Given the description of an element on the screen output the (x, y) to click on. 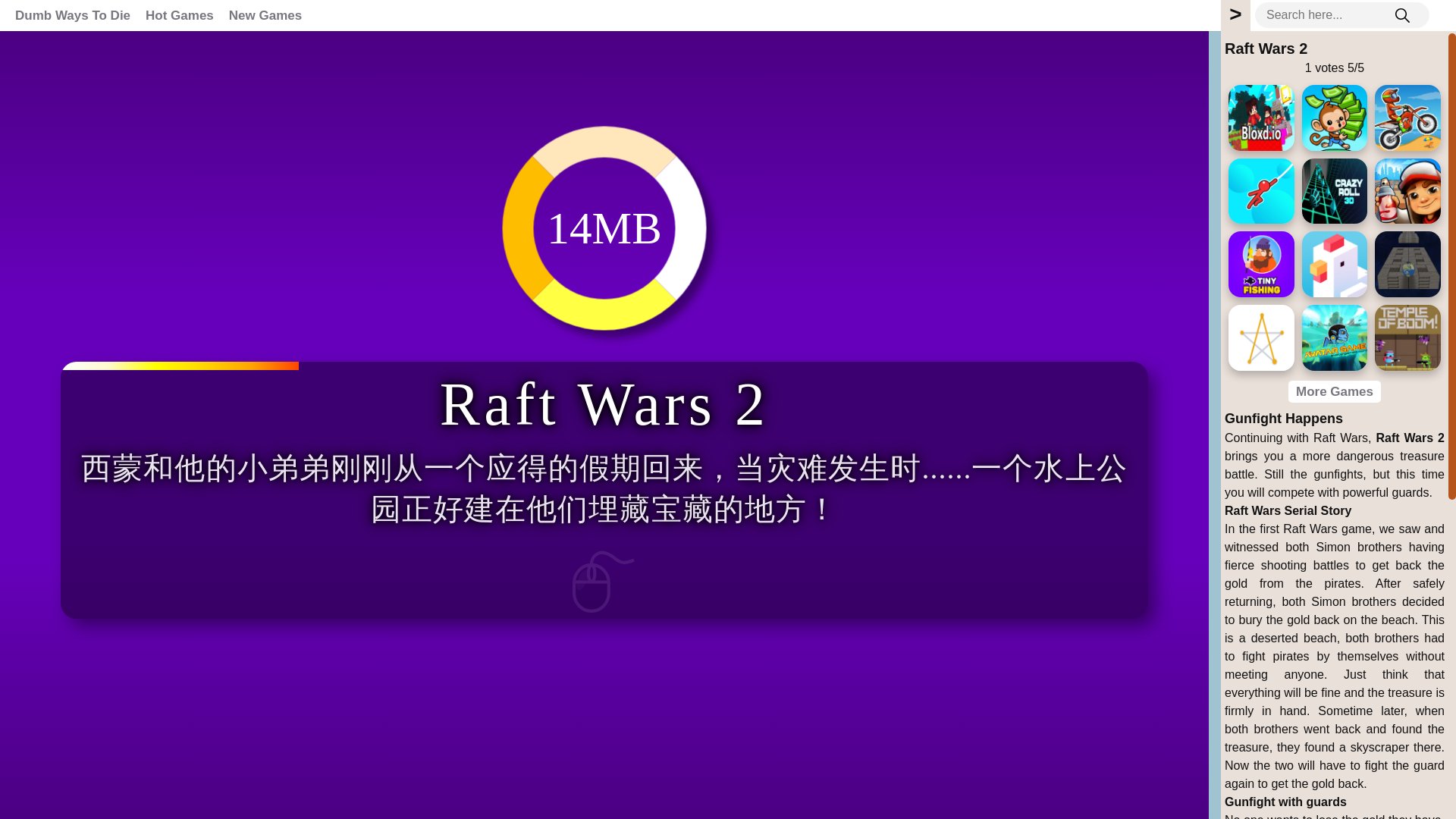
Connect Dots (1261, 337)
Stickman Hook (1261, 191)
Monkey Mart  (1334, 117)
Temple of Boom (1407, 337)
Crazy Roll 3D (1334, 191)
More Games (1334, 391)
Avatar Game (1334, 337)
New Games (264, 15)
Subway Surfers (1407, 191)
Crossy Road (1334, 263)
